Given the description of an element on the screen output the (x, y) to click on. 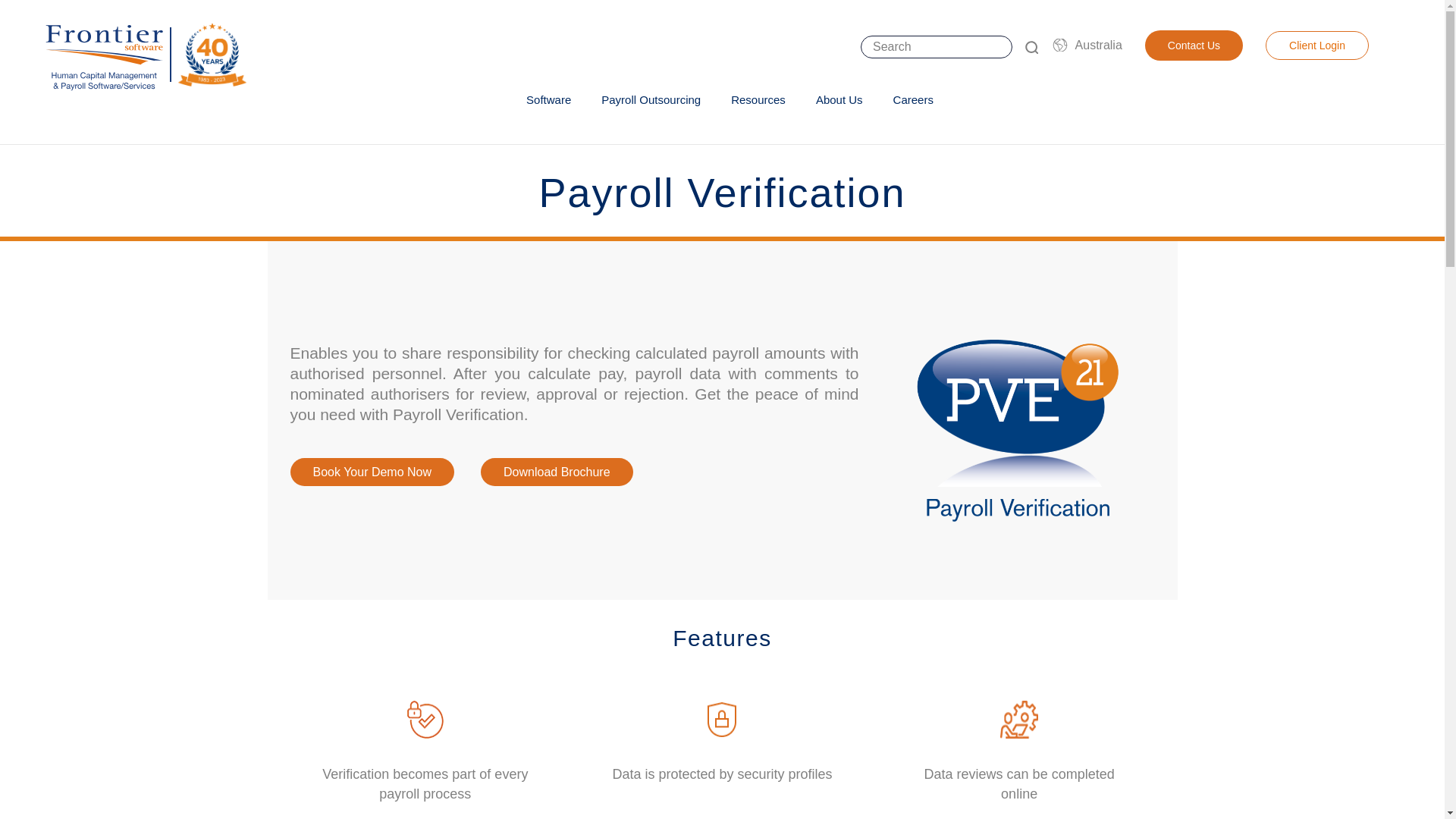
Client Login (1316, 45)
Contact Us (1193, 45)
Home (141, 54)
Payroll Outsourcing (650, 99)
Australia (1098, 44)
Resources (758, 99)
Software (547, 99)
Search (1031, 47)
